Given the description of an element on the screen output the (x, y) to click on. 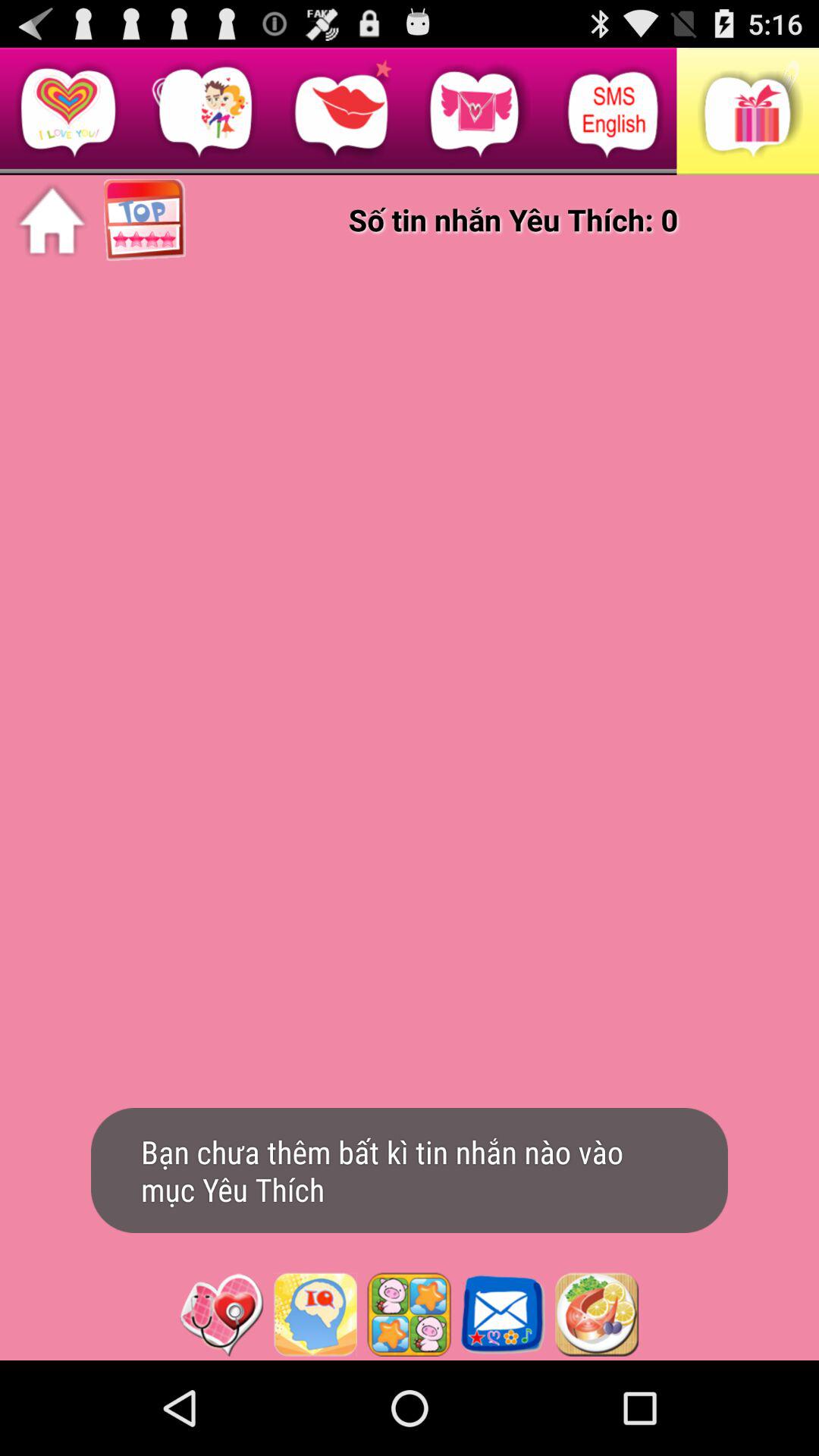
icon button (221, 1314)
